Given the description of an element on the screen output the (x, y) to click on. 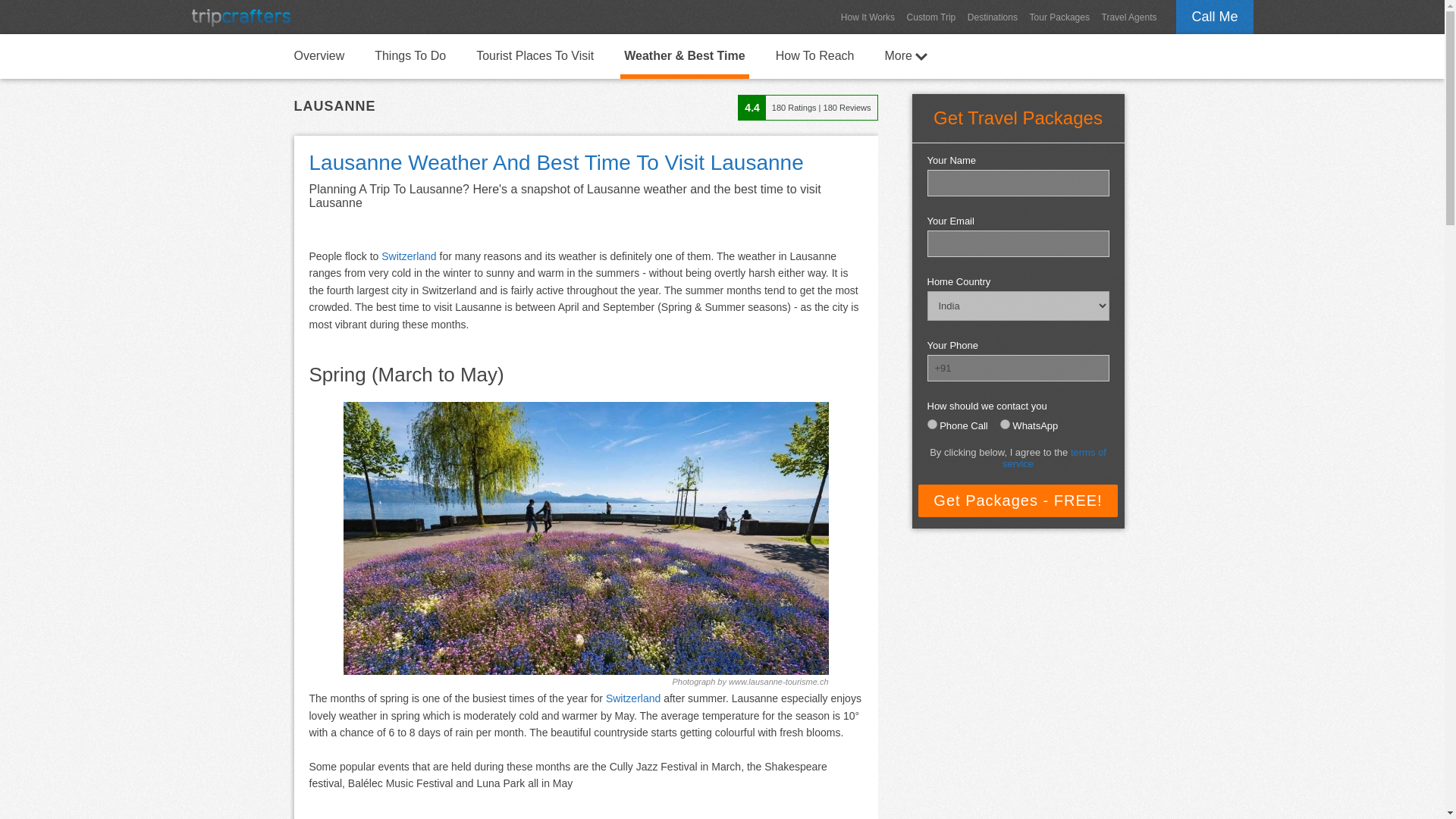
terms of service (1054, 457)
Overview (318, 54)
Switzerland (408, 256)
Call Me (1214, 17)
Travel Agents (1129, 17)
Travel Agents (1129, 17)
Phone (931, 424)
Destinations (992, 17)
How To Reach Lausanne (815, 54)
TripCrafters.com (239, 17)
